Given the description of an element on the screen output the (x, y) to click on. 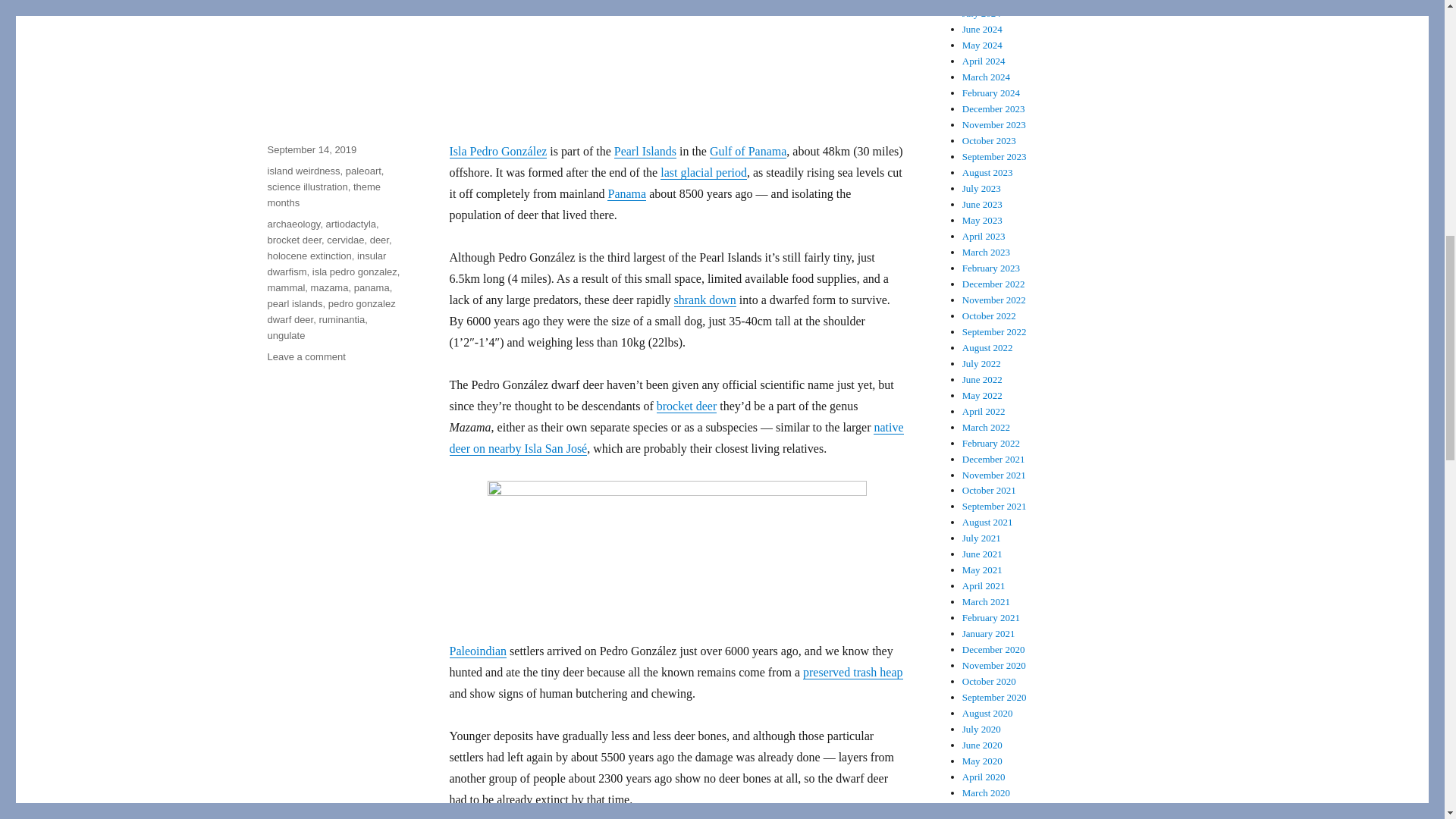
pearl islands (293, 303)
theme months (323, 194)
brocket deer (293, 239)
artiodactyla (350, 224)
insular dwarfism (325, 263)
Pearl Islands (645, 151)
cervidae (345, 239)
last glacial period (703, 172)
ruminantia (341, 319)
mazama (330, 287)
September 14, 2019 (311, 149)
panama (371, 287)
Paleoindian (477, 650)
science illustration (306, 186)
holocene extinction (308, 255)
